Given the description of an element on the screen output the (x, y) to click on. 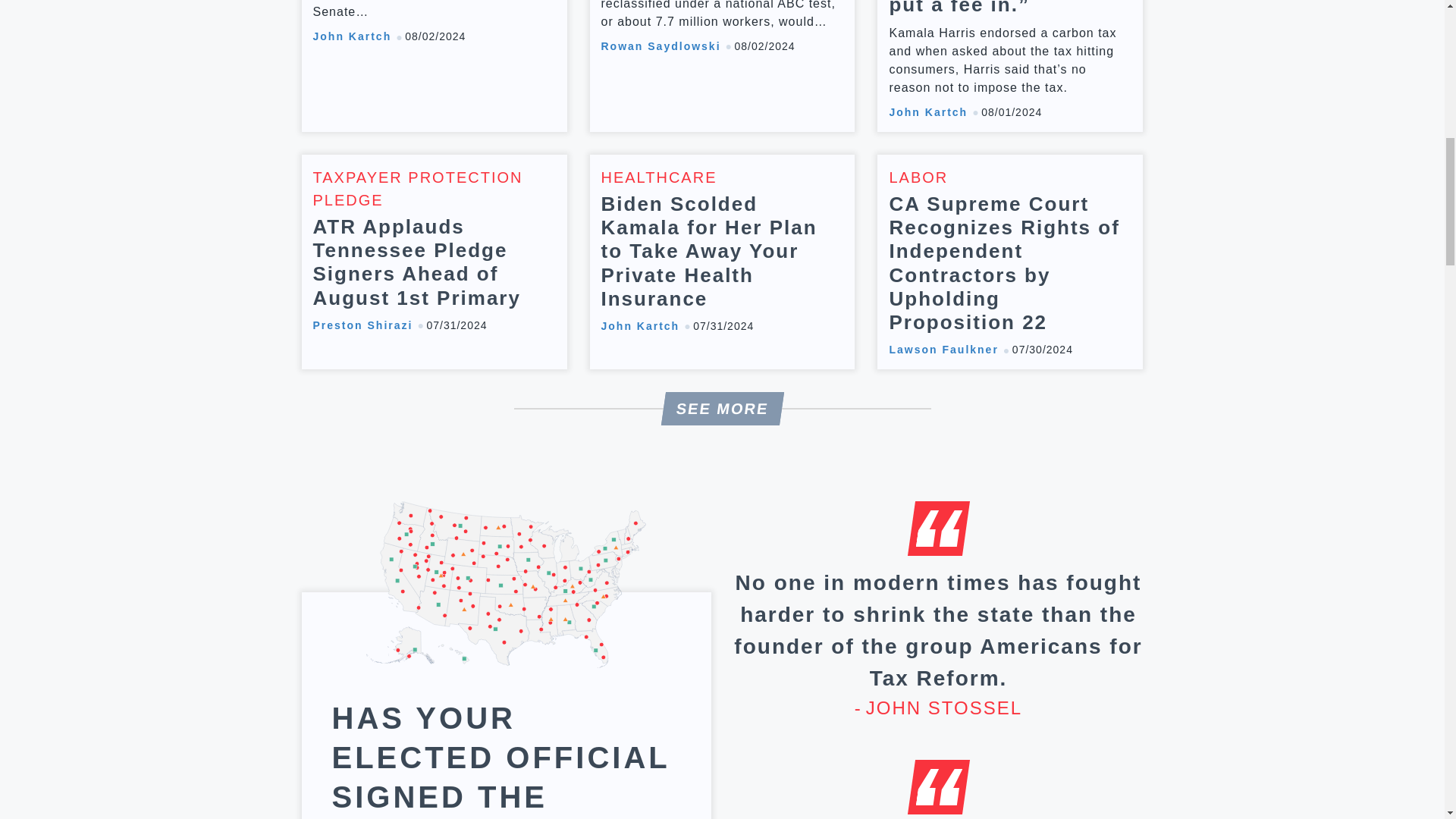
SEE MORE (719, 408)
How the Tax Cuts and Jobs Act is Helping North Carolina (434, 65)
